Given the description of an element on the screen output the (x, y) to click on. 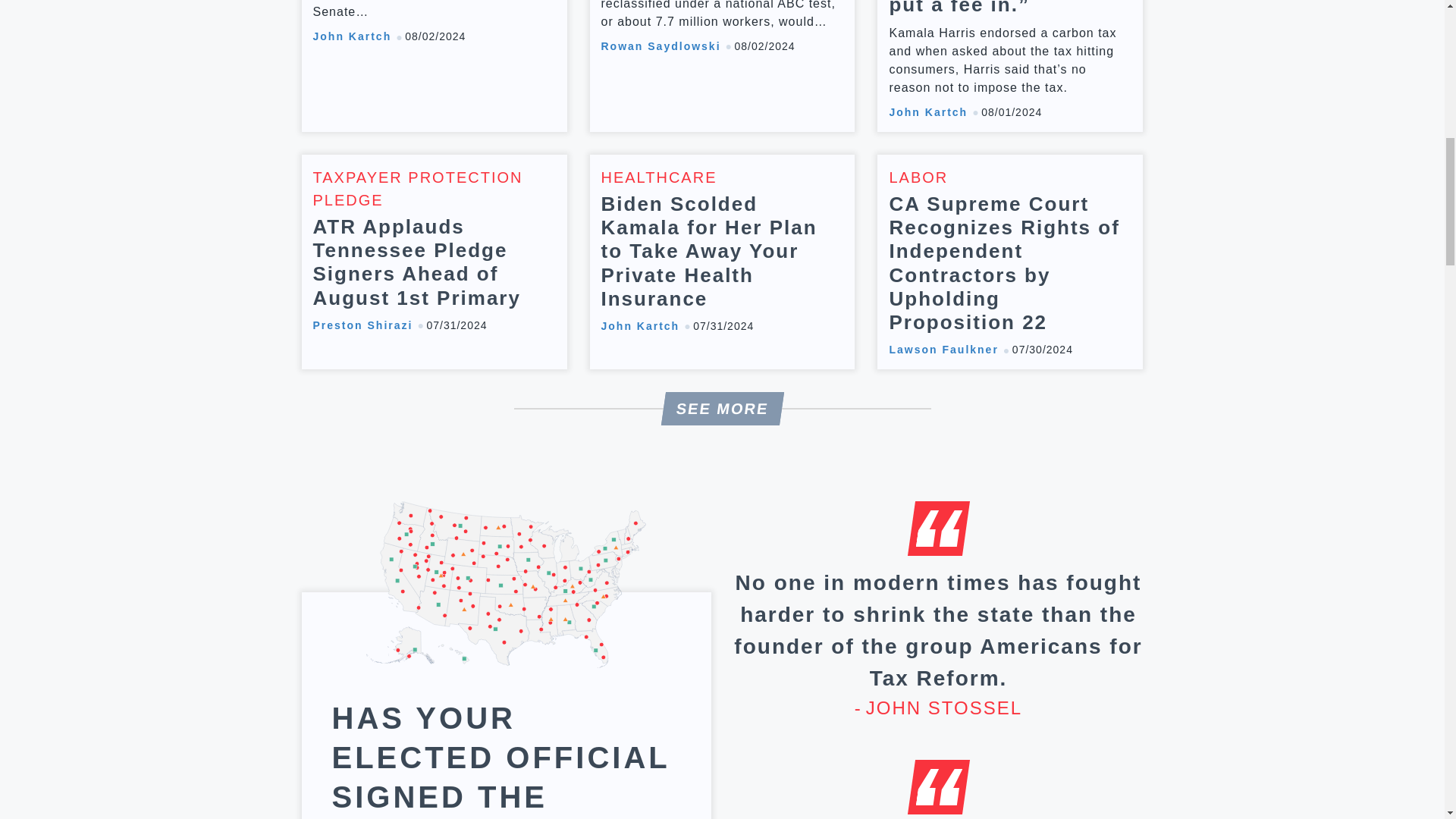
SEE MORE (719, 408)
How the Tax Cuts and Jobs Act is Helping North Carolina (434, 65)
